Given the description of an element on the screen output the (x, y) to click on. 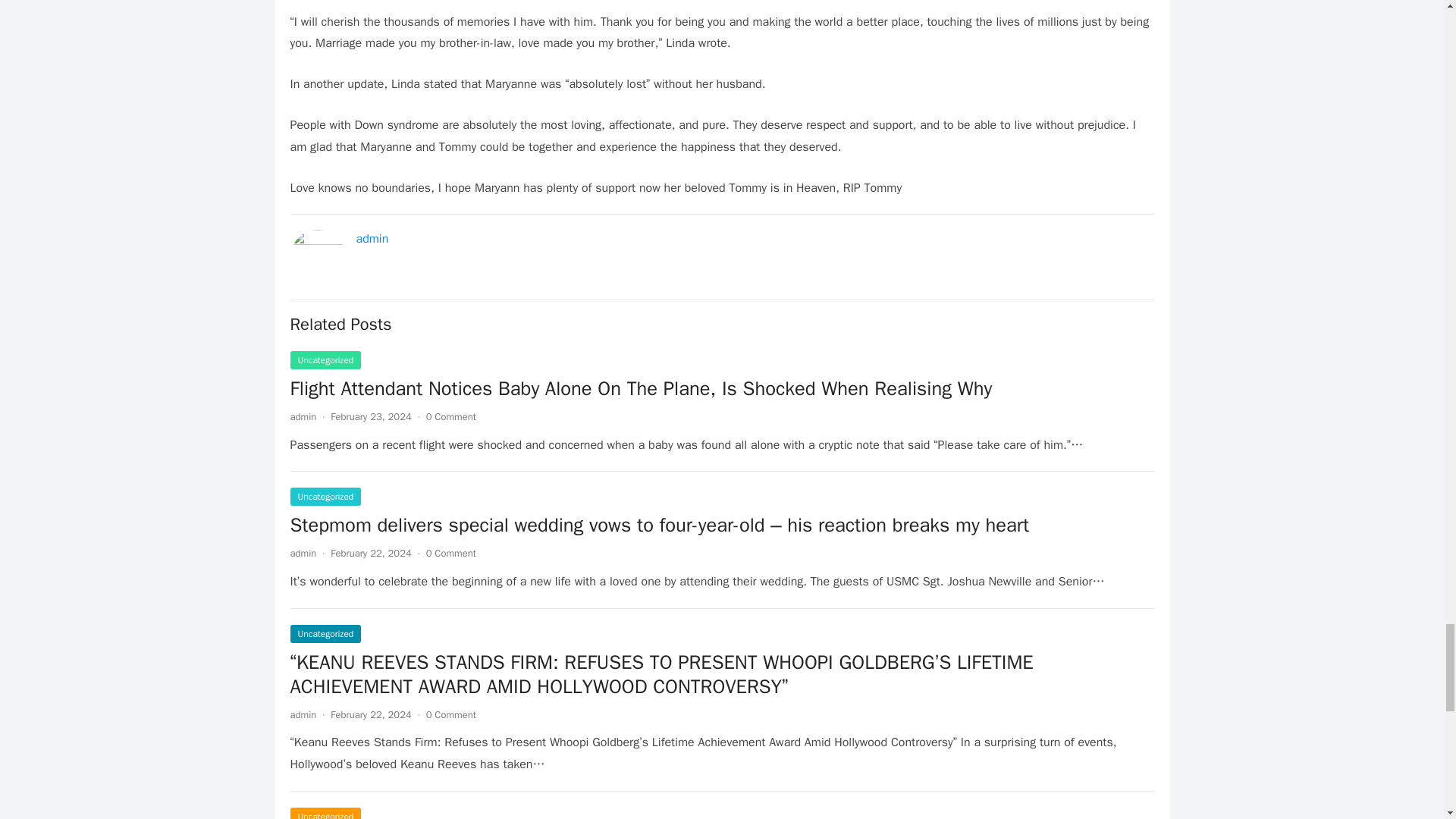
admin (302, 553)
Uncategorized (325, 496)
Posts by admin (302, 416)
admin (372, 238)
Uncategorized (325, 633)
0 Comment (451, 714)
Uncategorized (325, 360)
Posts by admin (302, 553)
Posts by admin (302, 714)
